Given the description of an element on the screen output the (x, y) to click on. 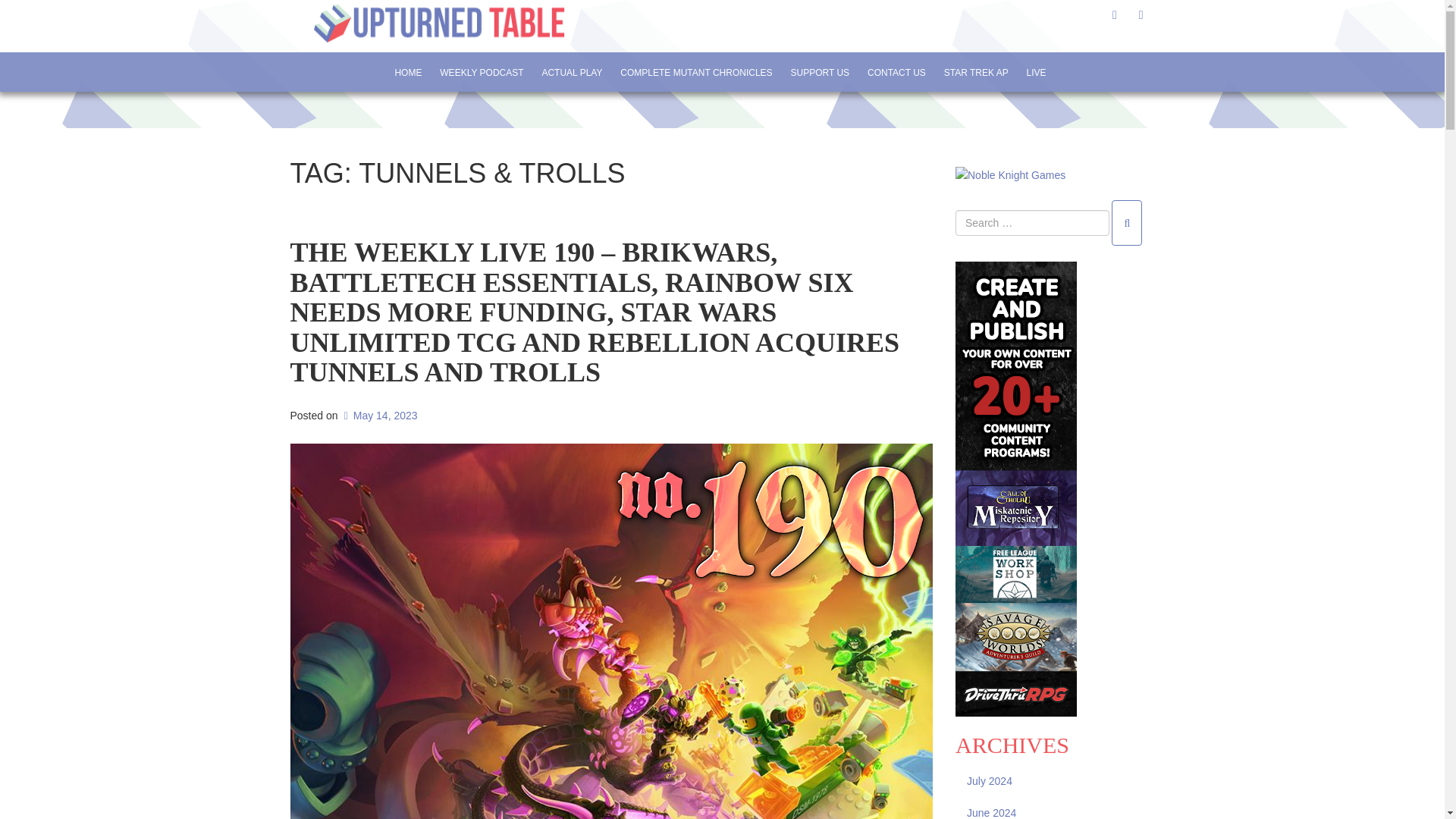
HOME (407, 72)
TWITTER (1114, 14)
SUPPORT US (820, 72)
INSTAGRAM (1141, 14)
COMPLETE MUTANT CHRONICLES (695, 72)
WEEKLY PODCAST (481, 72)
LIVE (1036, 72)
STAR TREK AP (975, 72)
May 14, 2023 (378, 415)
CONTACT US (896, 72)
ACTUAL PLAY (571, 72)
